Given the description of an element on the screen output the (x, y) to click on. 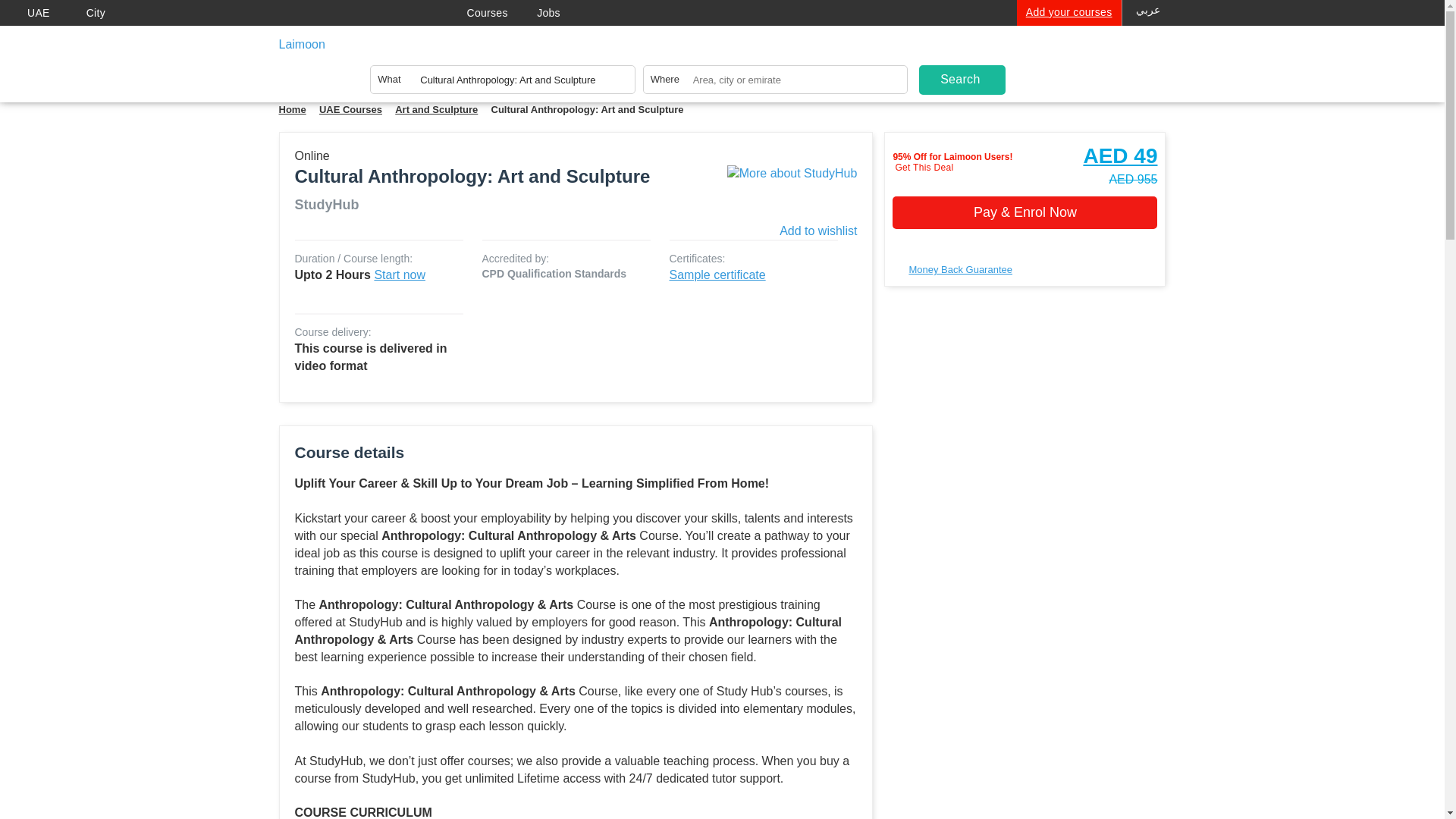
Cultural Anthropology: Art and Sculpture (502, 82)
Wishlist (1039, 37)
Add your courses (1068, 12)
Jobs   (563, 14)
Laimoon (360, 48)
Register (1075, 59)
Courses   (502, 14)
Login (1032, 59)
Wishlist (1039, 37)
Register (1075, 59)
Login (1032, 59)
Add your courses (1068, 12)
